Given the description of an element on the screen output the (x, y) to click on. 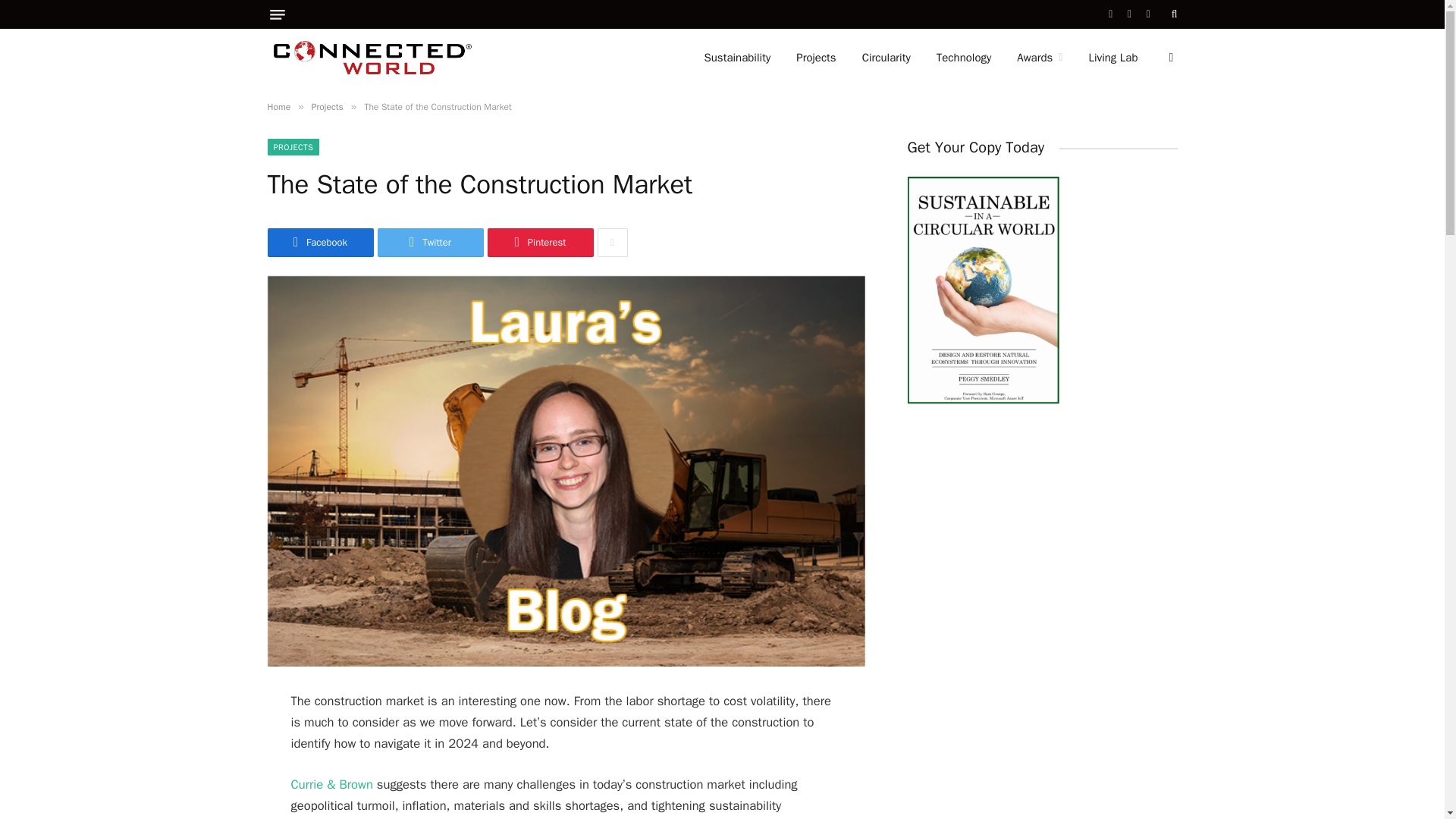
Circularity (885, 57)
PROJECTS (292, 146)
Facebook (319, 242)
Home (277, 106)
Pinterest (539, 242)
Share on Facebook (319, 242)
Connected World (371, 57)
Awards (1039, 57)
Sustainability (736, 57)
Share on Twitter (430, 242)
Living Lab (1112, 57)
Switch to Dark Design - easier on eyes. (1168, 57)
Share on Pinterest (539, 242)
Technology (963, 57)
Projects (815, 57)
